Given the description of an element on the screen output the (x, y) to click on. 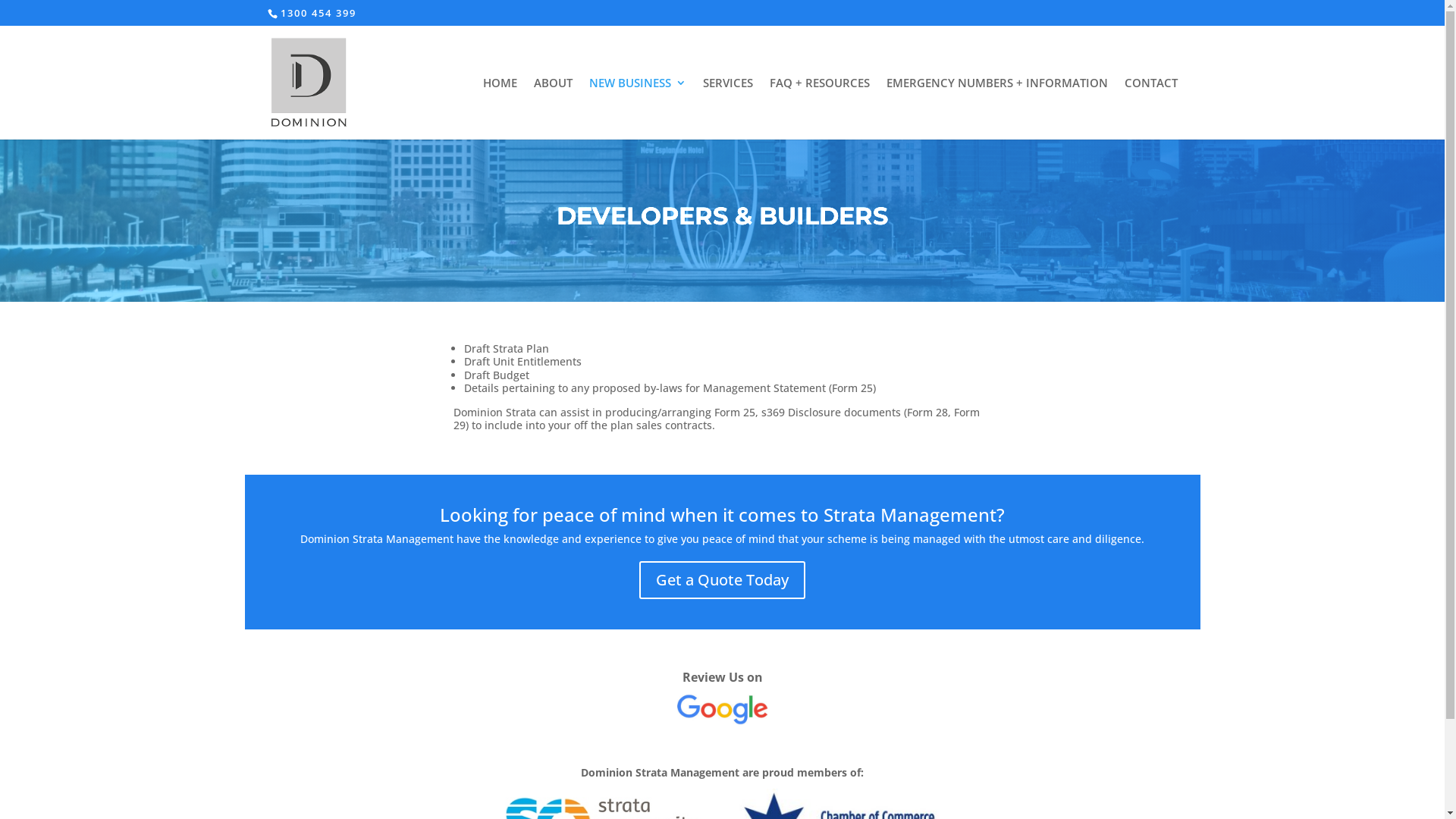
HOME Element type: text (499, 108)
EMERGENCY NUMBERS + INFORMATION Element type: text (996, 108)
SERVICES Element type: text (727, 108)
FAQ + RESOURCES Element type: text (818, 108)
CONTACT Element type: text (1149, 108)
ABOUT Element type: text (552, 108)
1300 454 399 Element type: text (318, 12)
Get a Quote Today Element type: text (722, 580)
NEW BUSINESS Element type: text (636, 108)
